Given the description of an element on the screen output the (x, y) to click on. 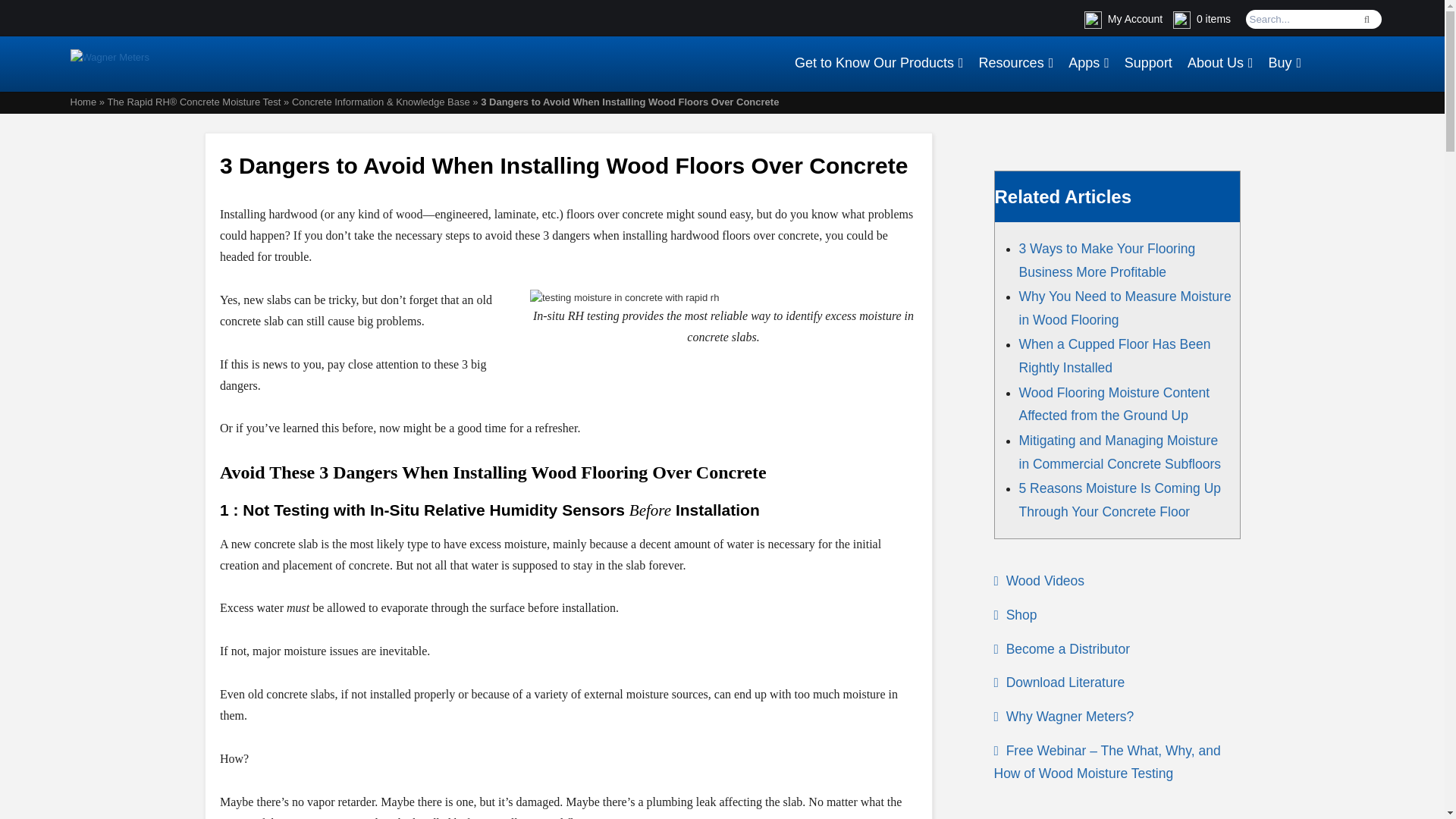
Why You Need to Measure Moisture in Wood Flooring (1125, 308)
Get to Know Our Products (879, 55)
View your shopping cart (1203, 19)
  My Account (1122, 19)
Wood Flooring Moisture Content Affected from the Ground Up (1114, 404)
 rh sensor (624, 297)
5 Reasons Moisture Is Coming Up Through Your Concrete Floor (1120, 499)
Resources (1016, 55)
When a Cupped Floor Has Been Rightly Installed (1115, 355)
